Given the description of an element on the screen output the (x, y) to click on. 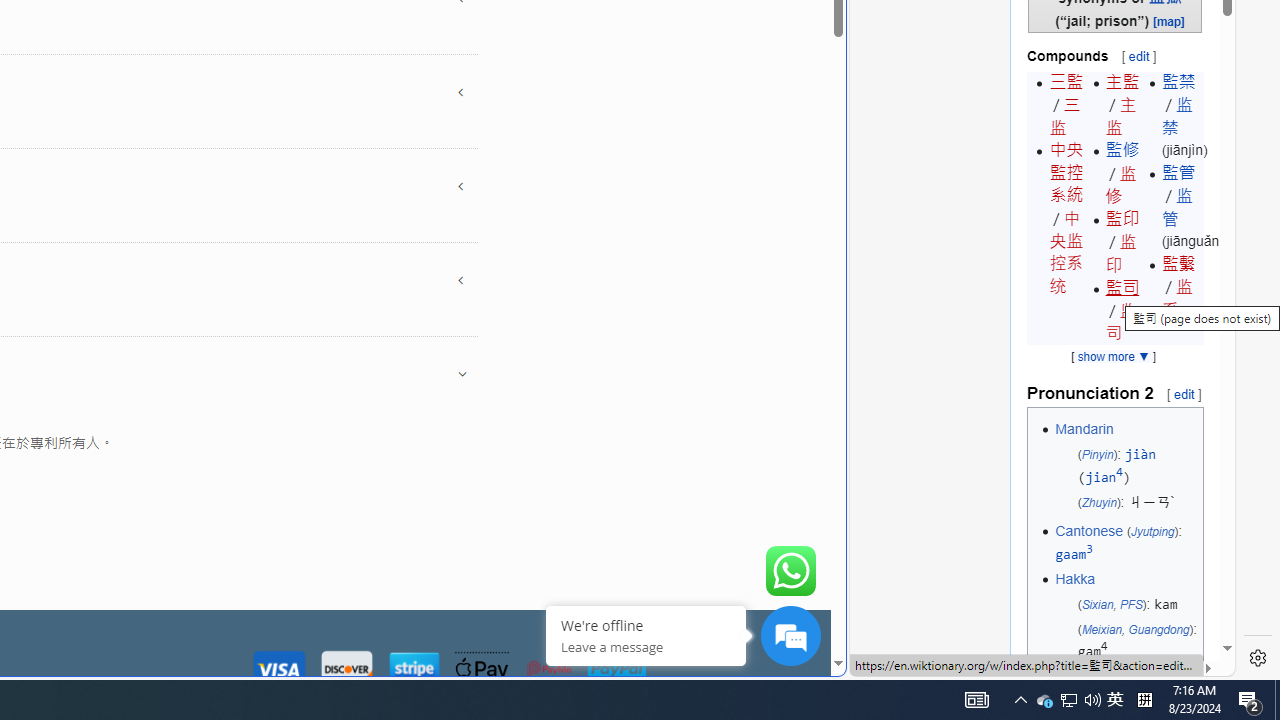
Hakka(Sixian, PFS): kam(Meixian, Guangdong): gam4 (1126, 615)
[map] (1169, 20)
Cantonese (1088, 531)
Cantonese (Jyutping): gaam3 (1126, 543)
